Given the description of an element on the screen output the (x, y) to click on. 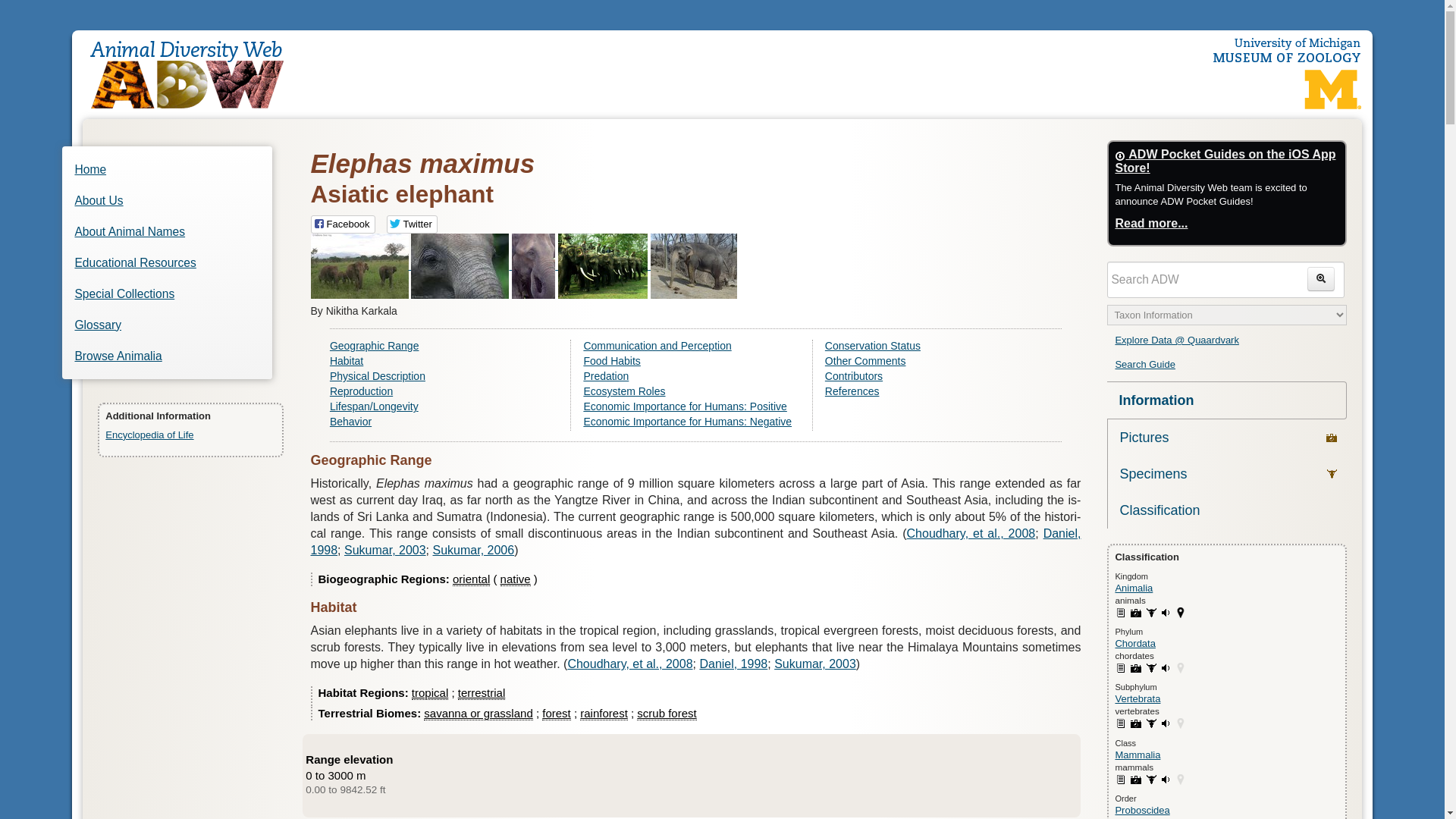
Geographic Range (448, 345)
Predation (694, 376)
Educational Resources (166, 263)
Physical Description (448, 376)
University of Michigan Museum of Zoology (1285, 49)
Economic Importance for Humans: Positive (694, 406)
native (515, 579)
Animal Diversity Web (194, 68)
Economic Importance for Humans: Negative (694, 421)
References (937, 390)
